Given the description of an element on the screen output the (x, y) to click on. 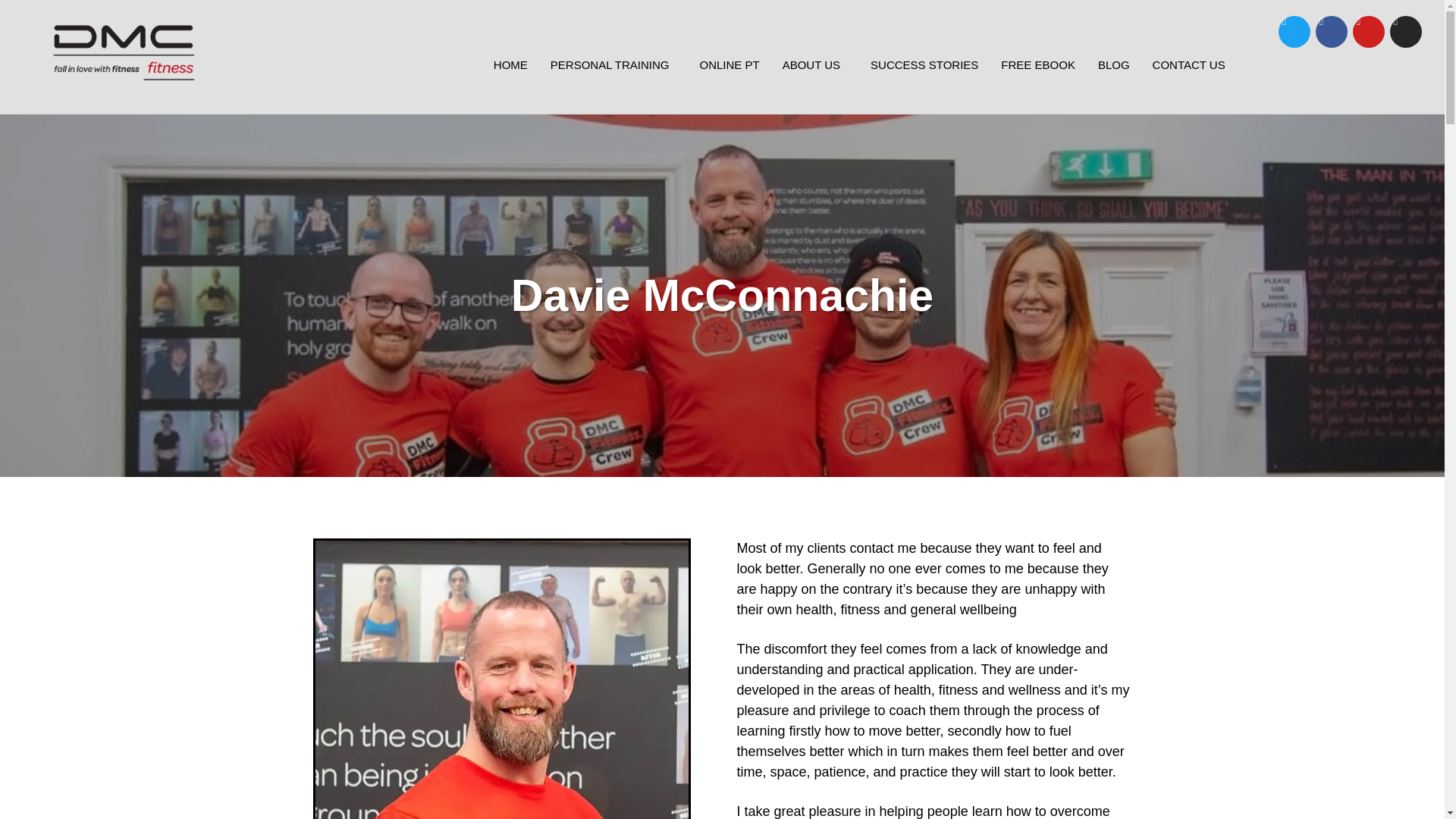
CONTACT US (1188, 65)
ONLINE PT (729, 65)
HOME (509, 65)
BLOG (1113, 65)
ABOUT US (815, 65)
FREE EBOOK (1038, 65)
SUCCESS STORIES (924, 65)
PERSONAL TRAINING (613, 65)
